Given the description of an element on the screen output the (x, y) to click on. 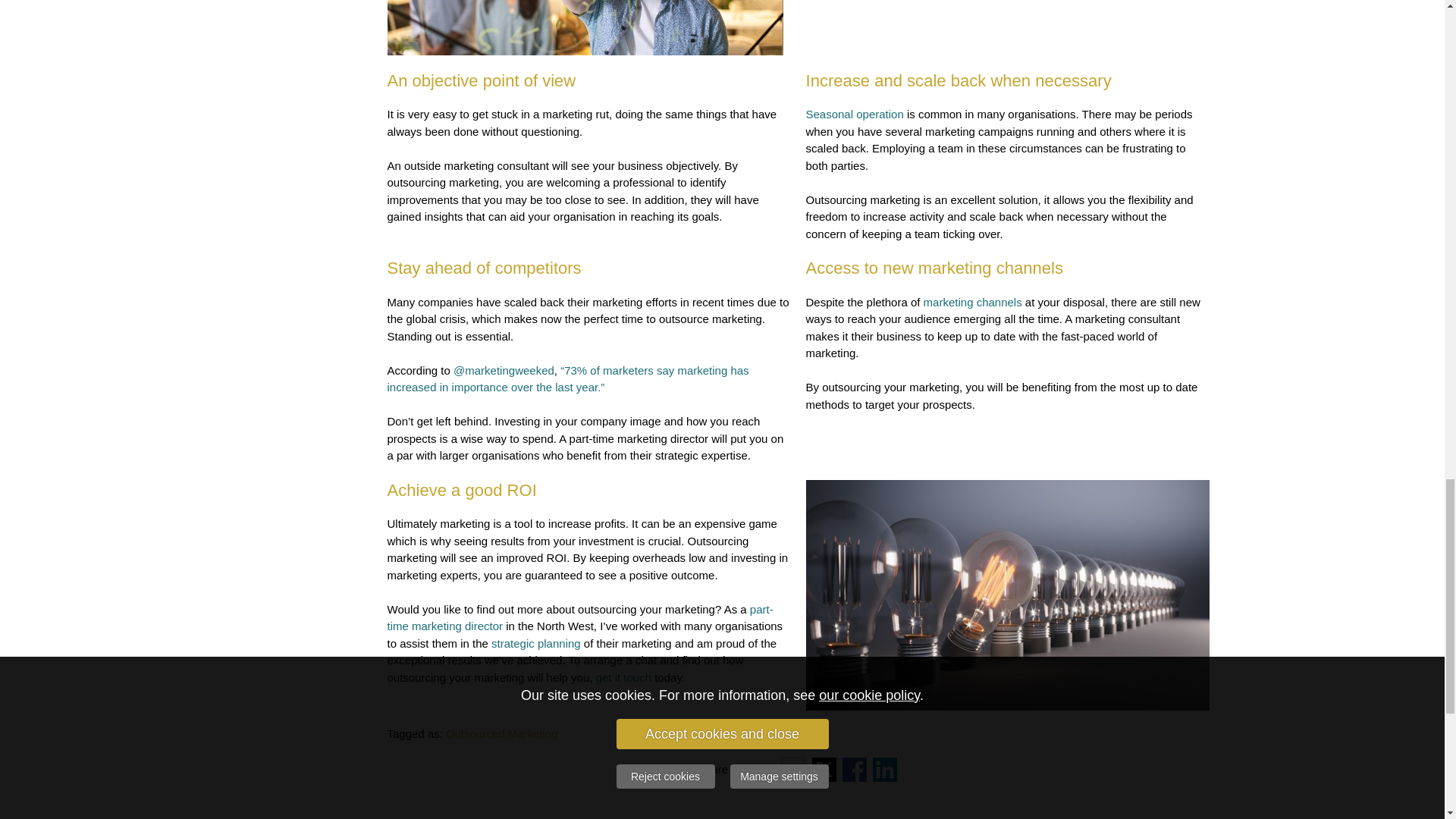
marketing channels (972, 301)
Seasonal operation (853, 113)
get it touch (622, 676)
Outsourced Marketing (501, 733)
strategic planning (536, 643)
part-time marketing director (580, 617)
